Given the description of an element on the screen output the (x, y) to click on. 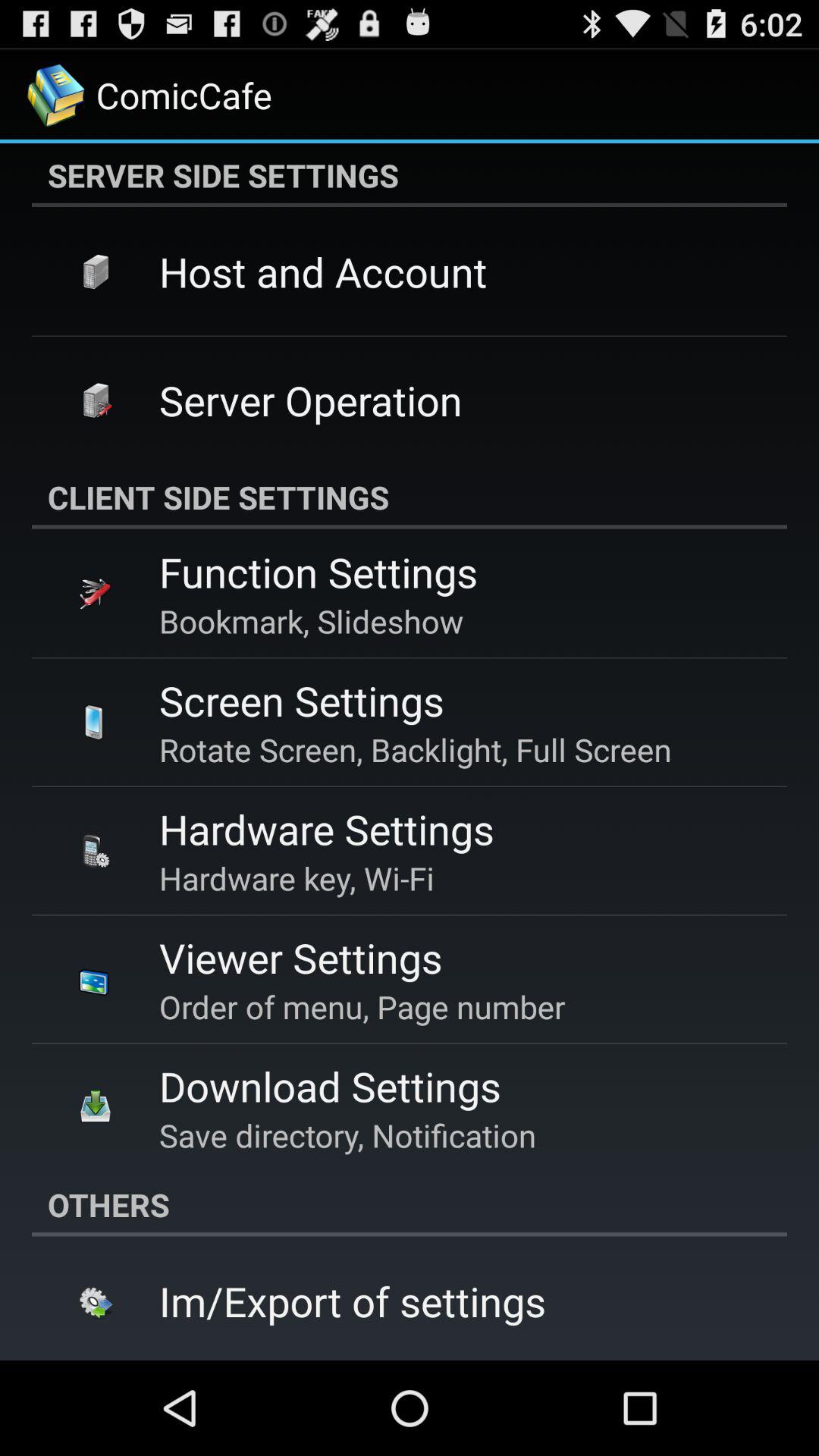
open the item below viewer settings item (362, 1006)
